Given the description of an element on the screen output the (x, y) to click on. 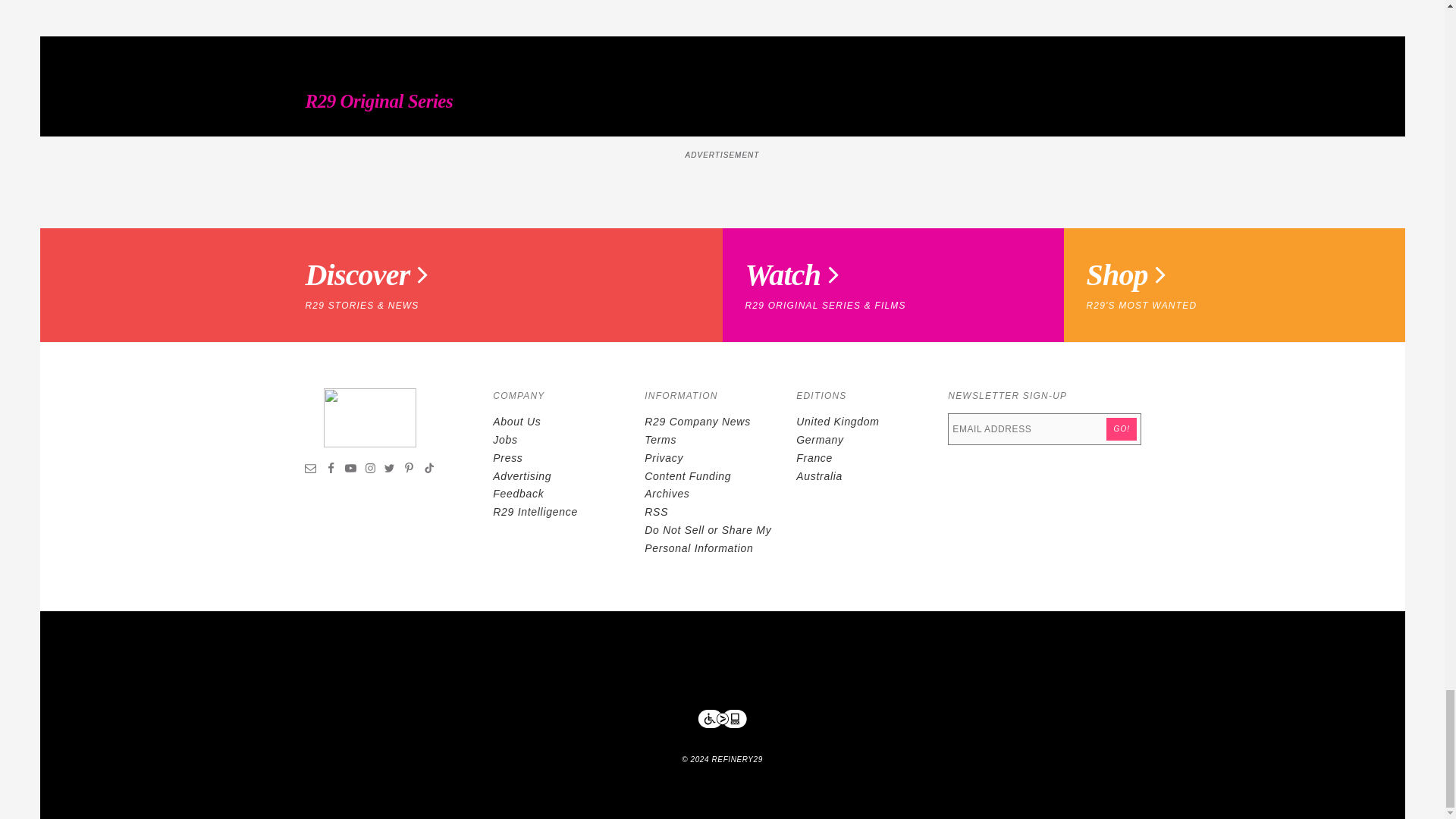
Visit Refinery29 on TikTok (428, 469)
Visit Refinery29 on YouTube (350, 469)
Sign up for newsletters (310, 469)
